Given the description of an element on the screen output the (x, y) to click on. 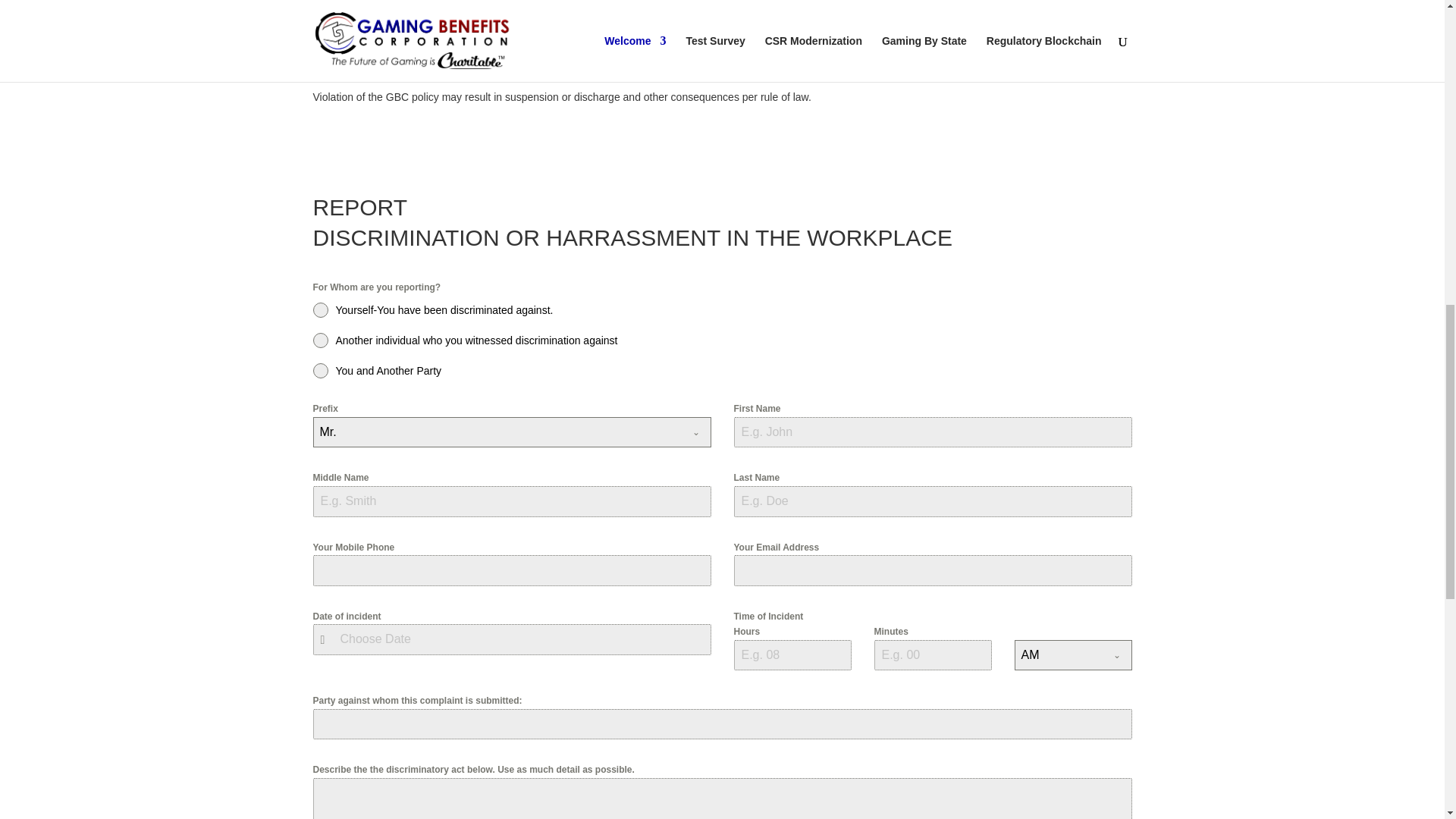
Yourself-You have been discriminated against. (722, 309)
Another individual who you witnessed discrimination against (722, 340)
Mr. (497, 431)
You and Another Party (722, 370)
AM (1058, 654)
